Given the description of an element on the screen output the (x, y) to click on. 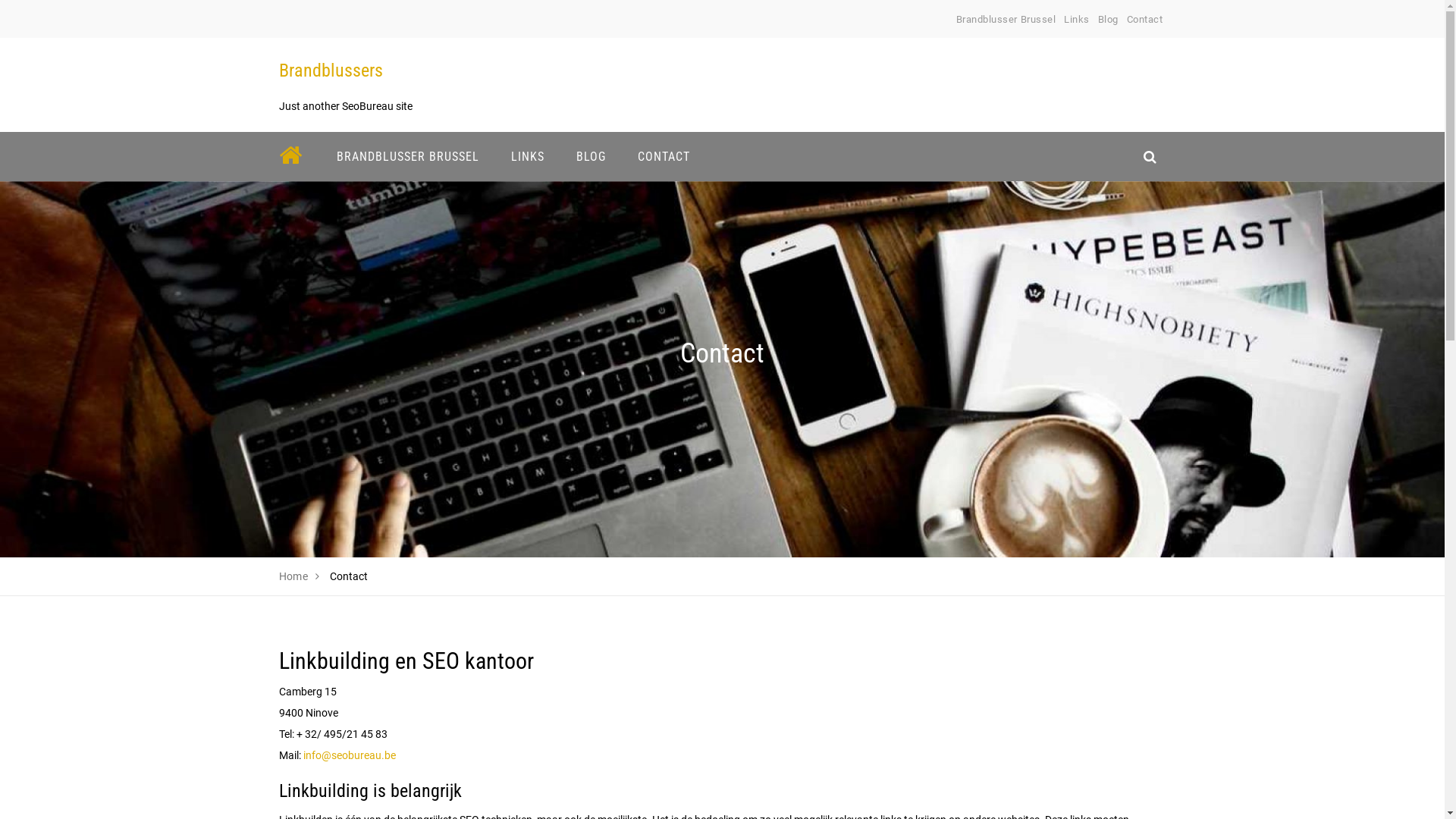
BRANDBLUSSER BRUSSEL Element type: text (407, 156)
CONTACT Element type: text (663, 156)
LINKS Element type: text (526, 156)
info@seobureau.be Element type: text (349, 755)
Contact Element type: text (1144, 19)
Blog Element type: text (1108, 19)
Brandblusser Brussel Element type: text (1005, 19)
Home Element type: text (293, 576)
Brandblussers Element type: text (330, 70)
search_icon Element type: hover (1148, 156)
BLOG Element type: text (590, 156)
Links Element type: text (1076, 19)
